Given the description of an element on the screen output the (x, y) to click on. 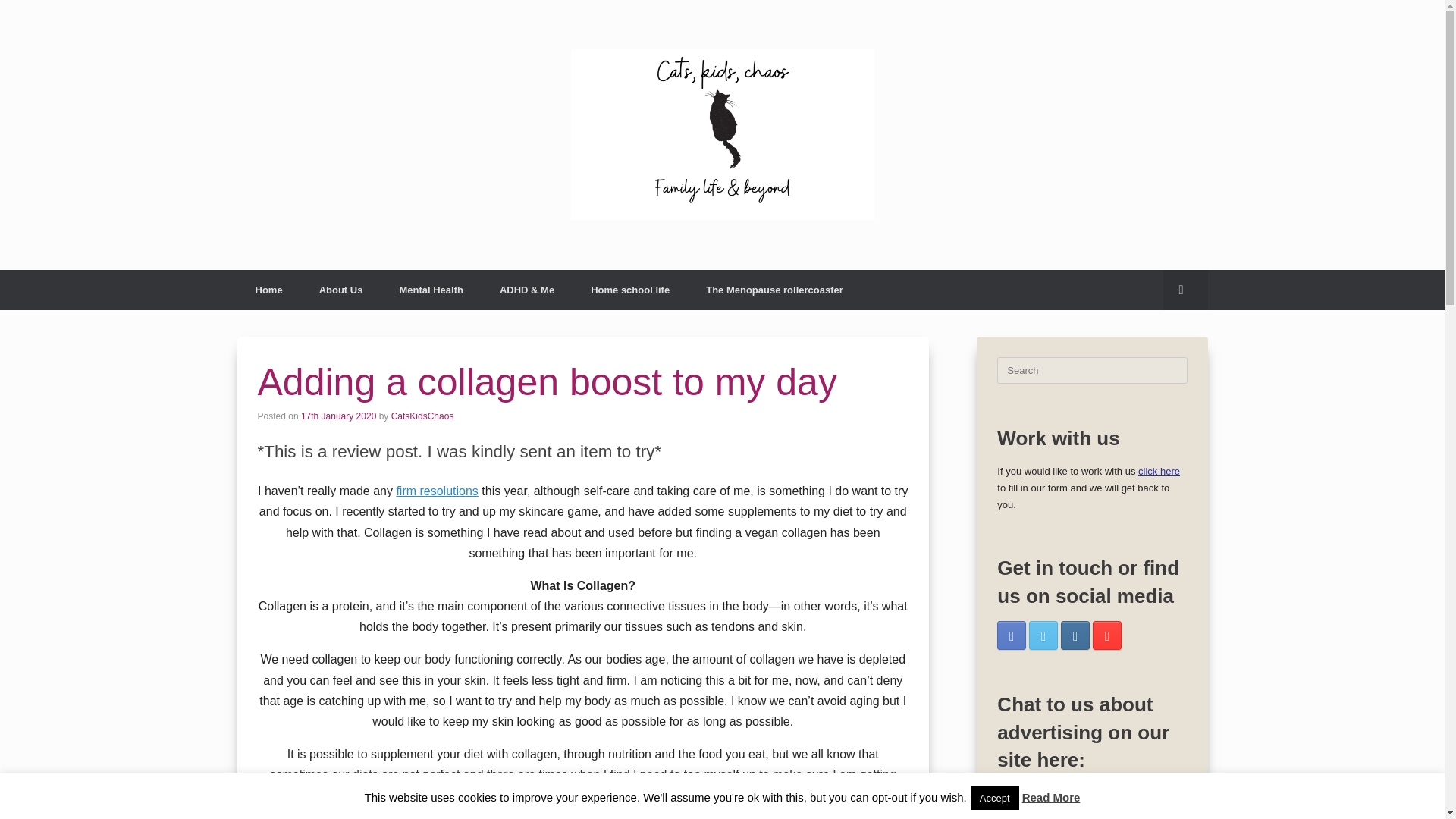
CatsKidsChaos Facebook (1011, 635)
11:12 am (338, 416)
CatsKidsChaos Pinterest (1107, 635)
Home (267, 290)
Read More (1051, 797)
firm resolutions (436, 490)
click here (1158, 471)
View all posts by CatsKidsChaos (422, 416)
CatsKidsChaos (422, 416)
17th January 2020 (338, 416)
Mental Health (430, 290)
CatsKidsChaos Instagram (1075, 635)
Home school life (629, 290)
Accept (995, 797)
The Menopause rollercoaster (774, 290)
